Given the description of an element on the screen output the (x, y) to click on. 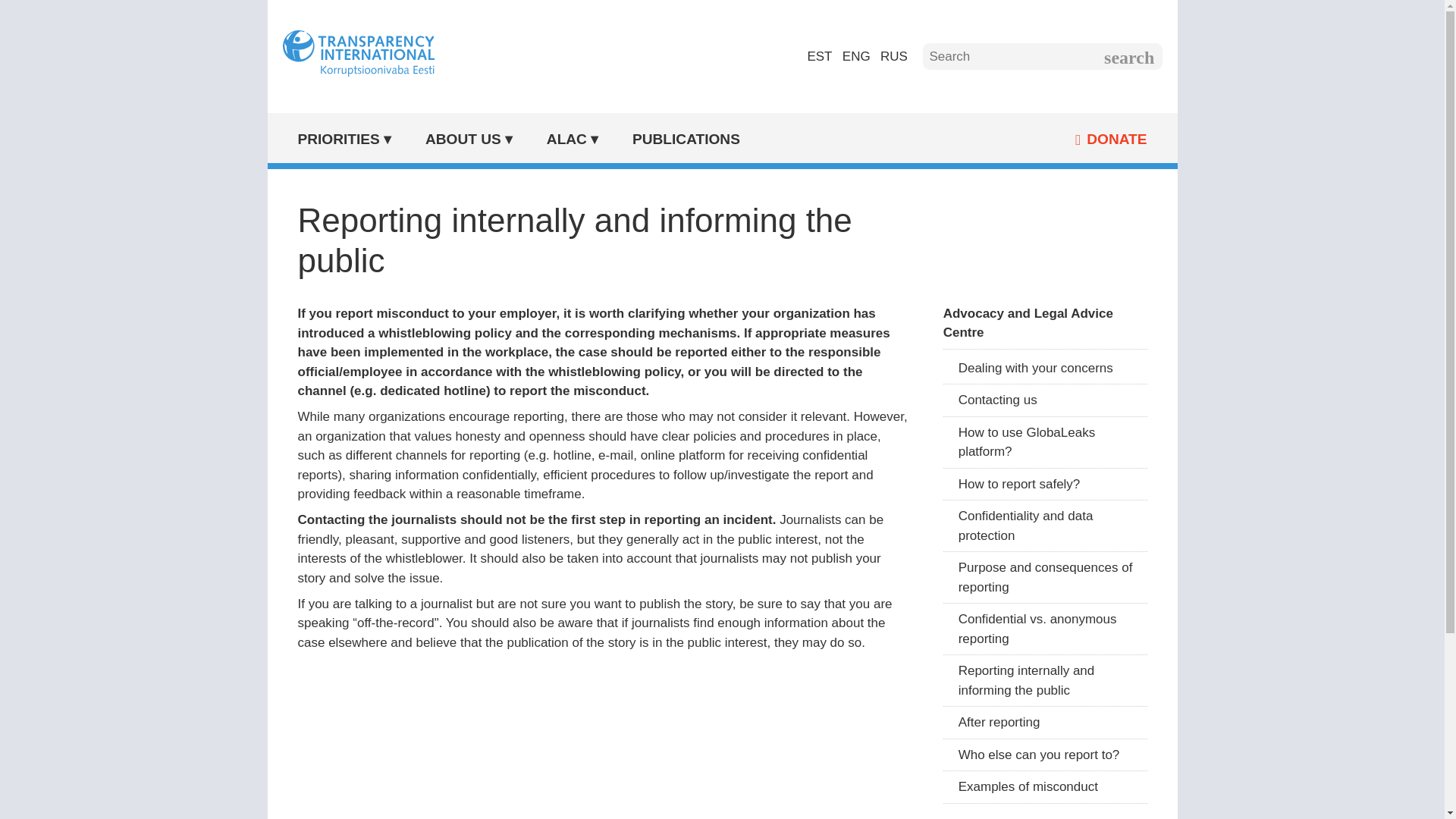
How to use GlobaLeaks platform? (1045, 442)
PUBLICATIONS (685, 138)
Who else can you report to? (1045, 755)
Advocacy and Legal Advice Centre (1045, 323)
DONATE (960, 139)
RUS (893, 56)
Examples of misconduct (1045, 787)
How to report safely? (1045, 484)
search (1128, 56)
Confidential vs. anonymous reporting (1045, 629)
Contacting us (1045, 400)
Reporting internally and informing the public (1045, 680)
Confidentiality and data protection (1045, 526)
After reporting (1045, 722)
EST (818, 56)
